Given the description of an element on the screen output the (x, y) to click on. 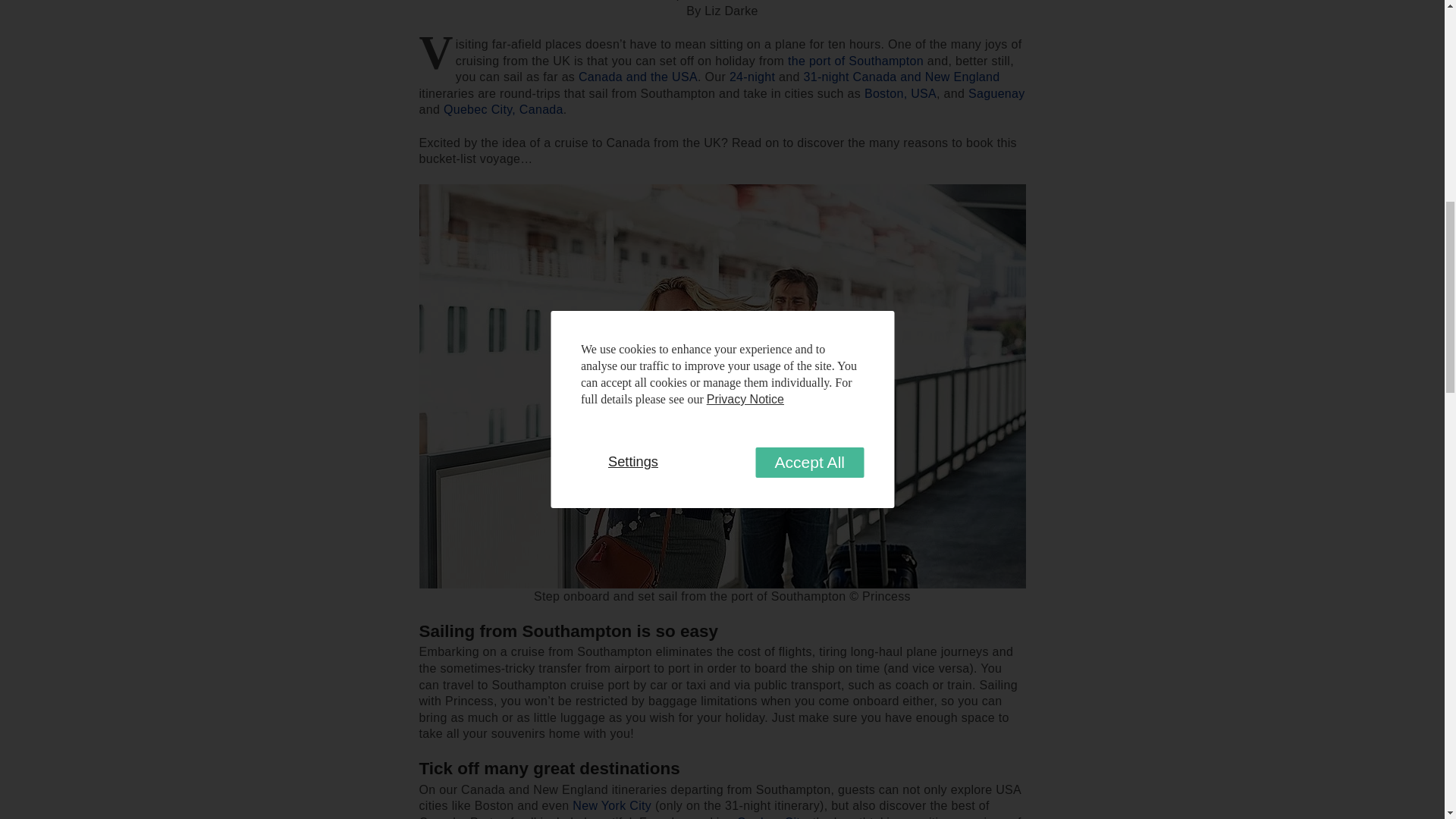
Canada and the USA (637, 76)
the port of Southampton (855, 60)
24-night (751, 76)
Boston, USA (900, 92)
Quebec City, Canada (503, 109)
31-night Canada and New England (900, 76)
Quebec City (770, 817)
New York City (611, 805)
Saguenay (996, 92)
